Given the description of an element on the screen output the (x, y) to click on. 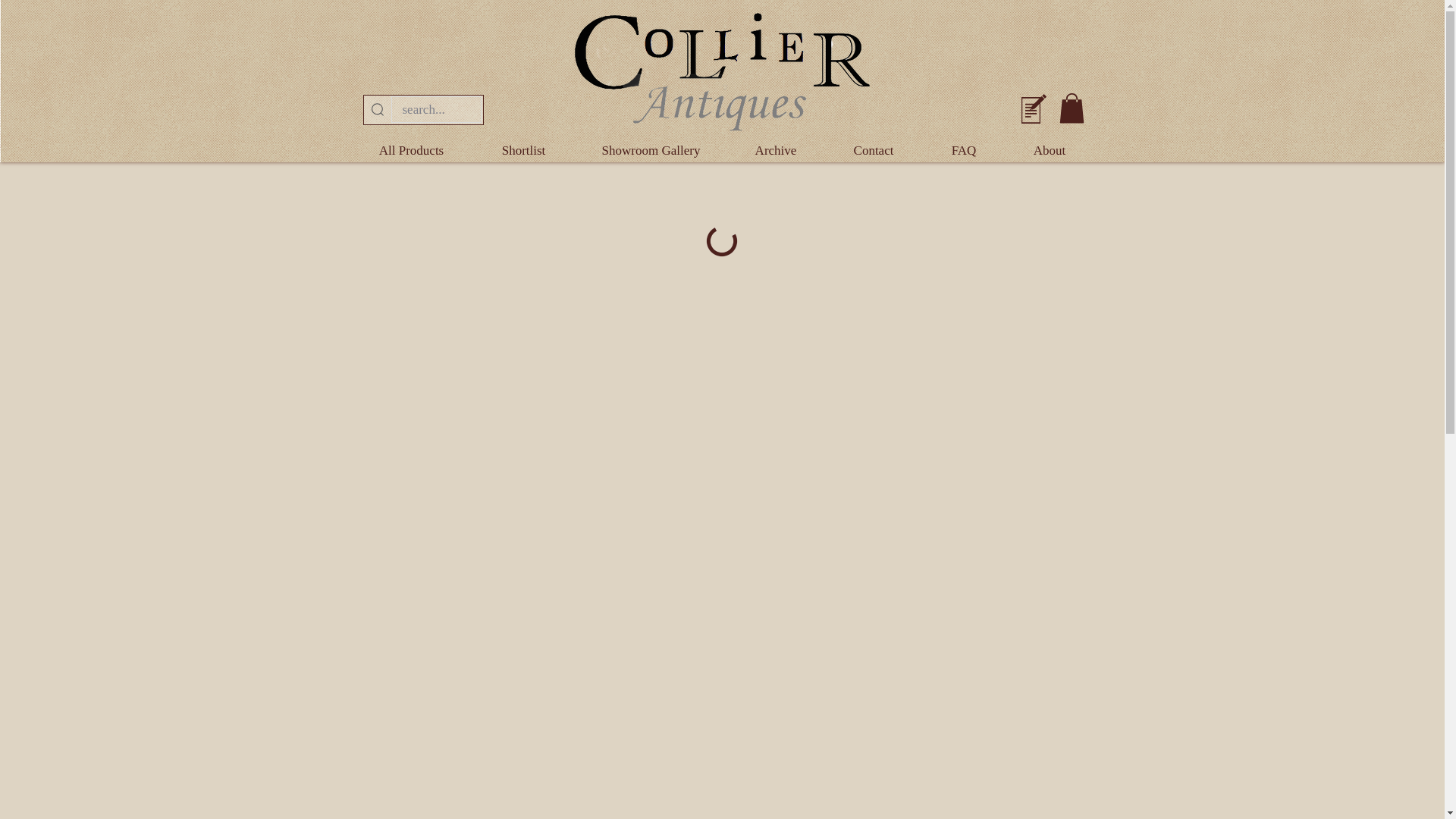
Showroom Gallery (650, 150)
FAQ (962, 150)
All Products (410, 150)
Archive (775, 150)
About (1048, 150)
Shortlist (522, 150)
Contact (872, 150)
